Given the description of an element on the screen output the (x, y) to click on. 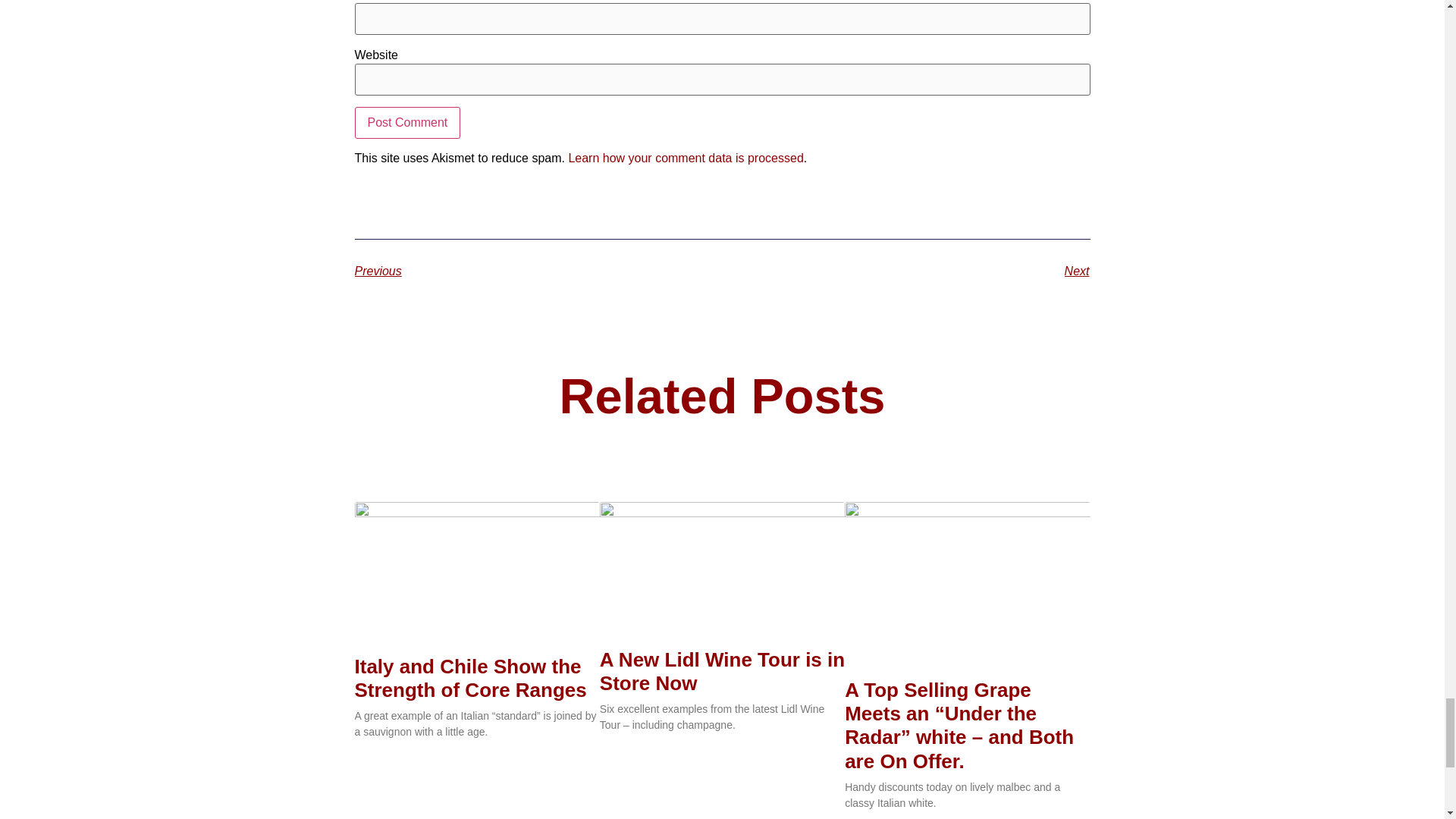
Post Comment (408, 122)
A New Lidl Wine Tour is in Store Now (721, 670)
Next (905, 271)
Italy and Chile Show the Strength of Core Ranges (470, 678)
Post Comment (408, 122)
Learn how your comment data is processed (685, 157)
Previous (538, 271)
